Given the description of an element on the screen output the (x, y) to click on. 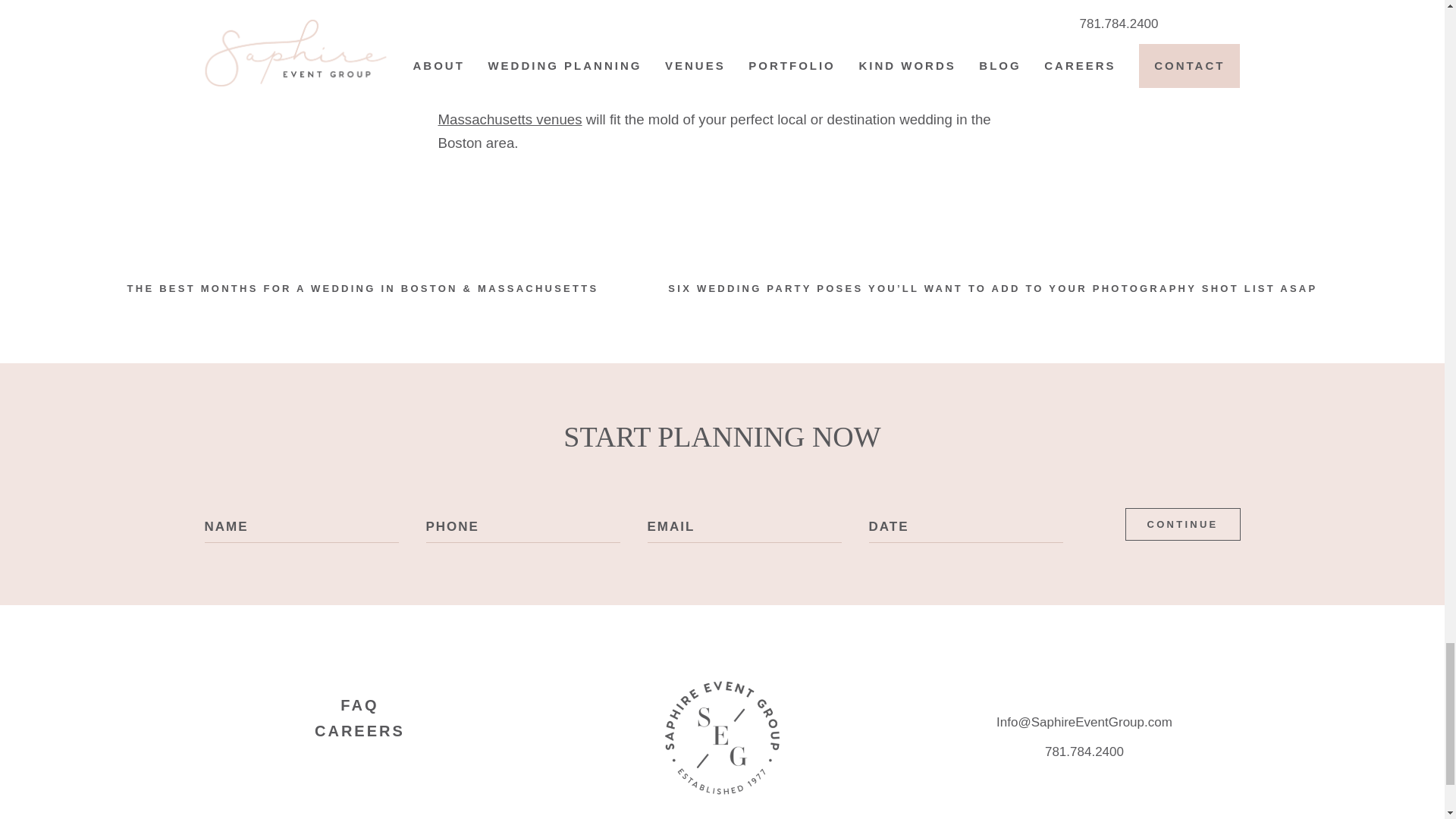
Continue (1182, 523)
FAQ (359, 704)
Continue (1182, 523)
781.784.2400 (1084, 751)
CAREERS (359, 730)
